Given the description of an element on the screen output the (x, y) to click on. 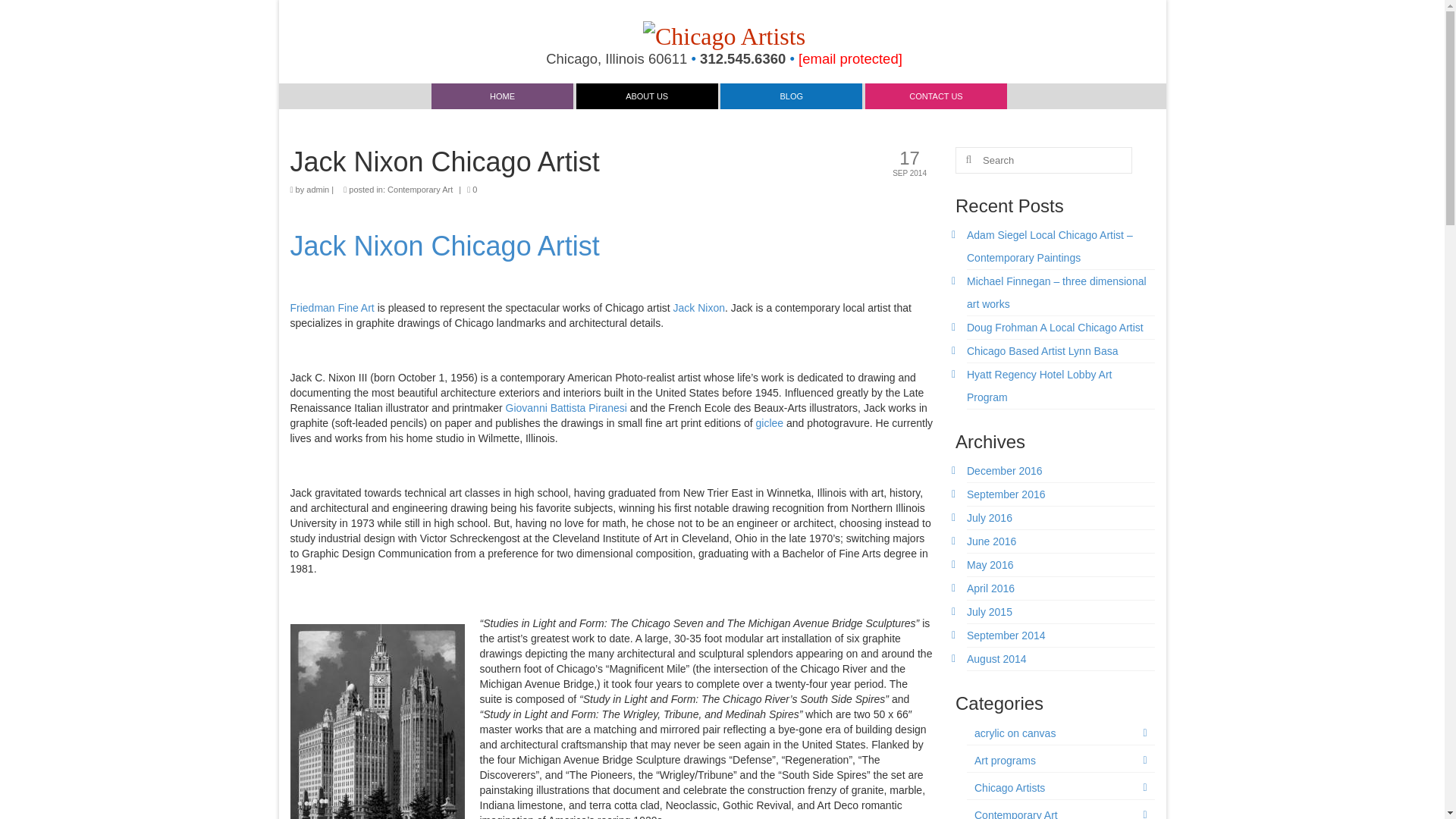
giclee (769, 422)
ABOUT US (646, 95)
Jack Nixon (698, 307)
admin (317, 189)
Friedman Fine Art (331, 307)
Contemporary Art (419, 189)
Jack Nixon Chicago Artist (443, 245)
BLOG (790, 95)
HOME (501, 95)
CONTACT US (935, 95)
Giovanni Battista Piranesi (566, 408)
